Given the description of an element on the screen output the (x, y) to click on. 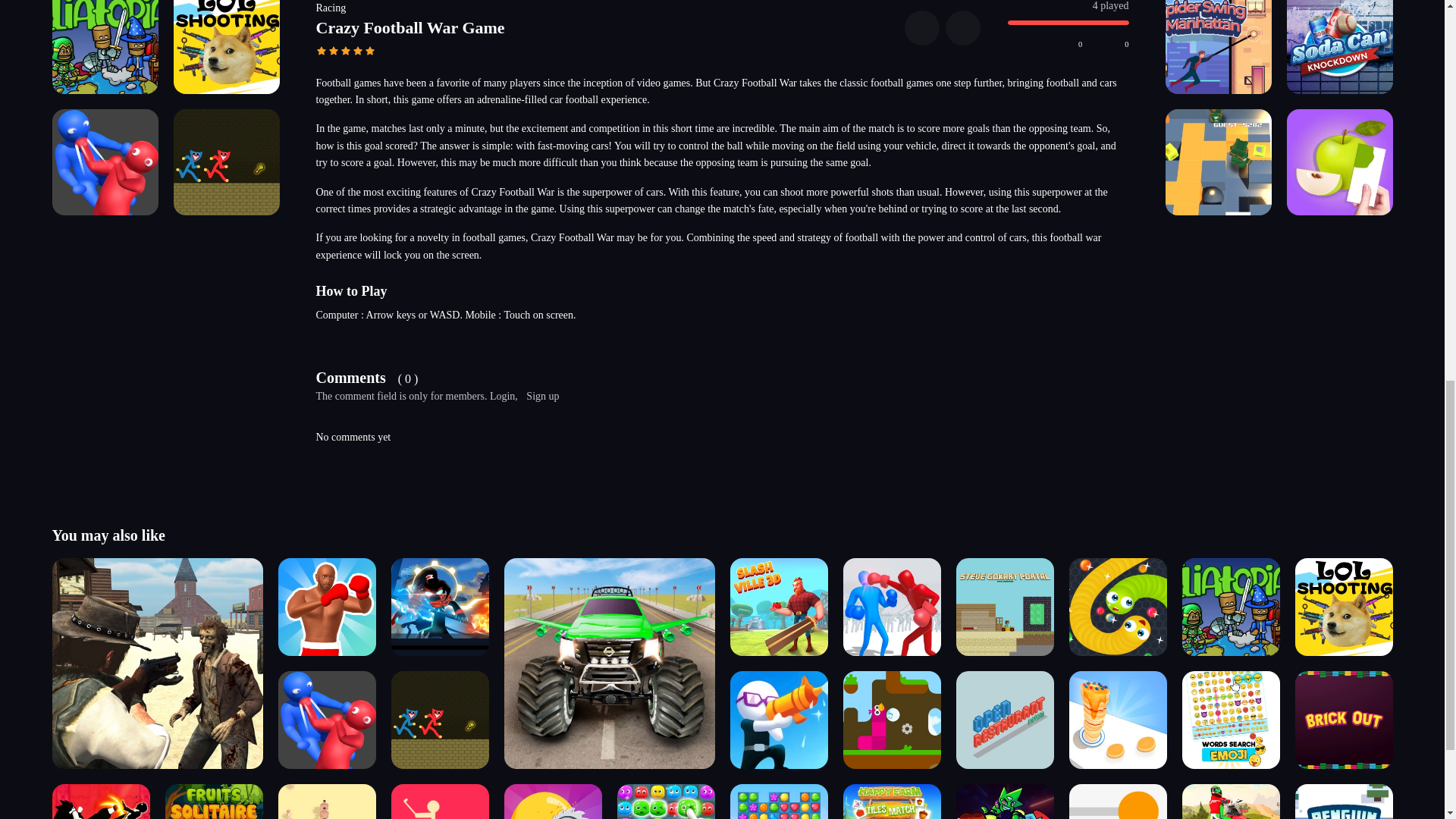
Racing (330, 7)
Login (502, 396)
Sign up (542, 396)
